Given the description of an element on the screen output the (x, y) to click on. 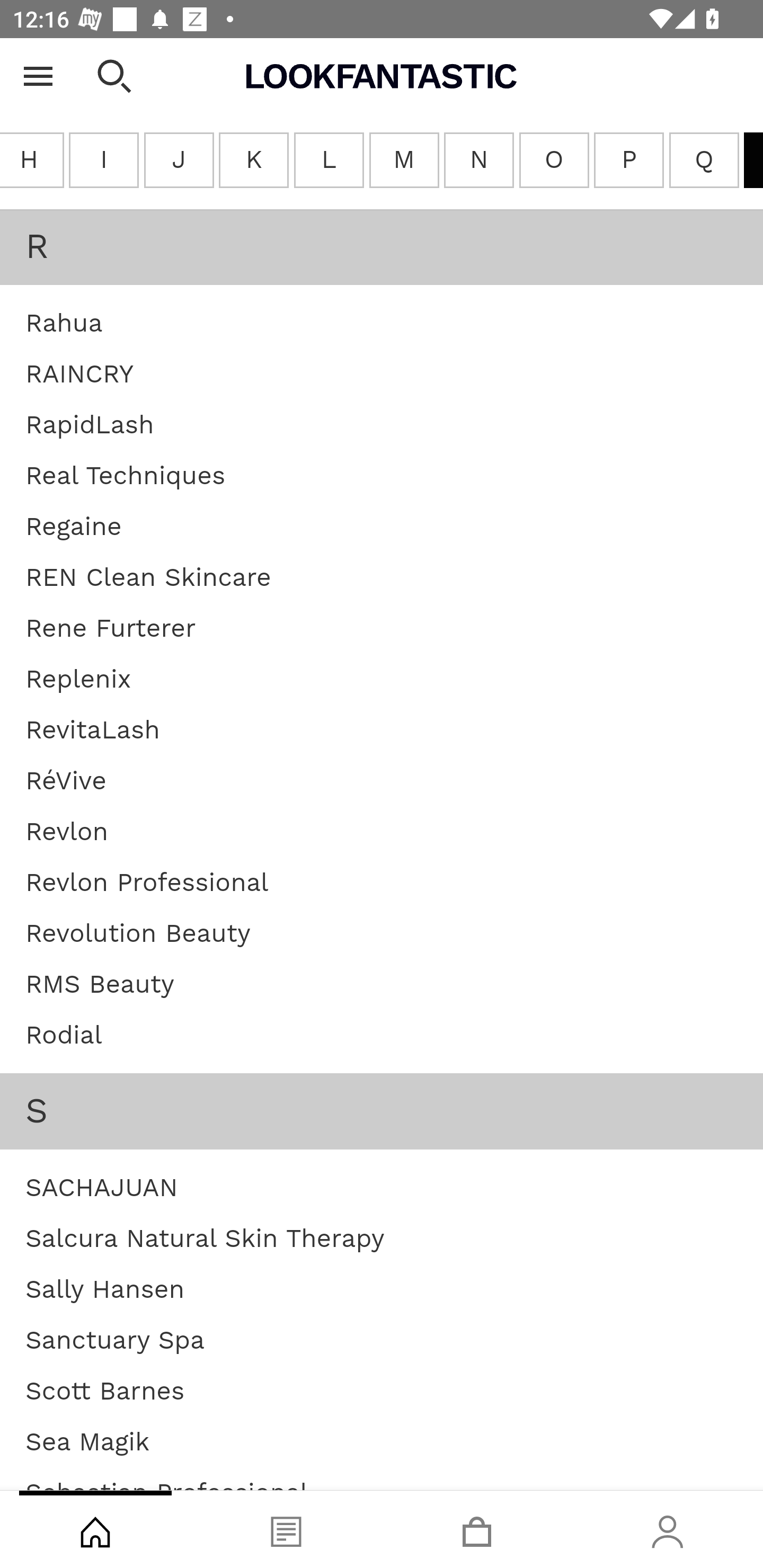
H (32, 160)
I (103, 160)
J (178, 160)
K (253, 160)
L (327, 160)
M (404, 160)
N (479, 160)
O (553, 160)
P (628, 160)
Q (703, 160)
Rahua (64, 324)
RAINCRY (80, 374)
RapidLash (89, 425)
Real Techniques (125, 476)
Regaine (73, 527)
REN Clean Skincare (148, 578)
Rene Furterer (110, 628)
Replenix (78, 680)
RevitaLash (92, 730)
RéVive (66, 782)
Revlon (67, 832)
Revlon Professional (146, 883)
Revolution Beauty (138, 934)
RMS Beauty (99, 985)
Rodial (64, 1036)
SACHAJUAN (101, 1188)
Salcura Natural Skin Therapy (204, 1239)
Sally Hansen (105, 1290)
Sanctuary Spa (115, 1340)
Scott Barnes (105, 1392)
Sea Magik (88, 1442)
Shop, tab, 1 of 4 (95, 1529)
Blog, tab, 2 of 4 (285, 1529)
Basket, tab, 3 of 4 (476, 1529)
Account, tab, 4 of 4 (667, 1529)
